Given the description of an element on the screen output the (x, y) to click on. 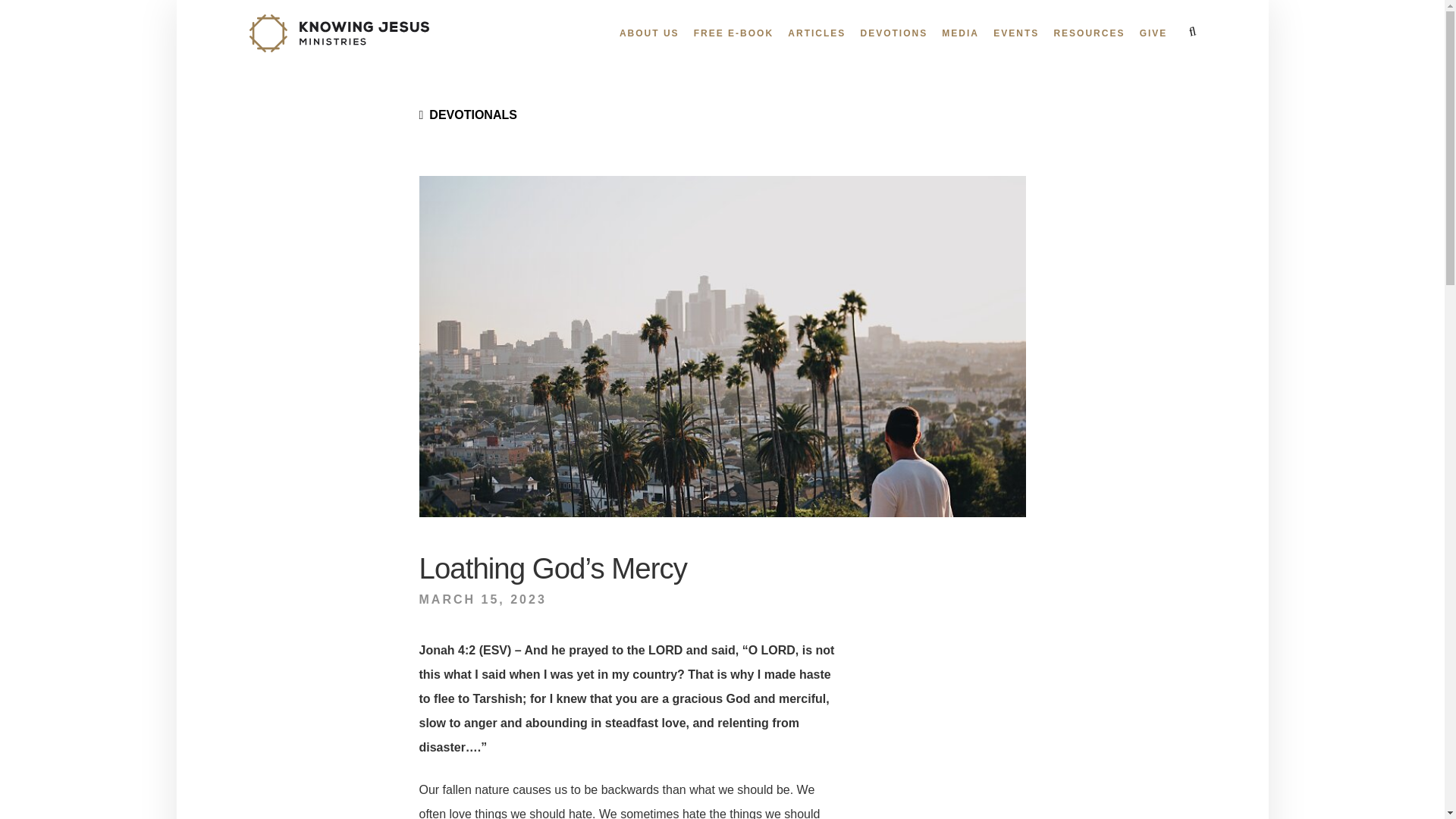
ABOUT US (649, 33)
FREE E-BOOK (733, 33)
MEDIA (960, 33)
DEVOTIONS (893, 33)
ARTICLES (816, 33)
EVENTS (1015, 33)
